Given the description of an element on the screen output the (x, y) to click on. 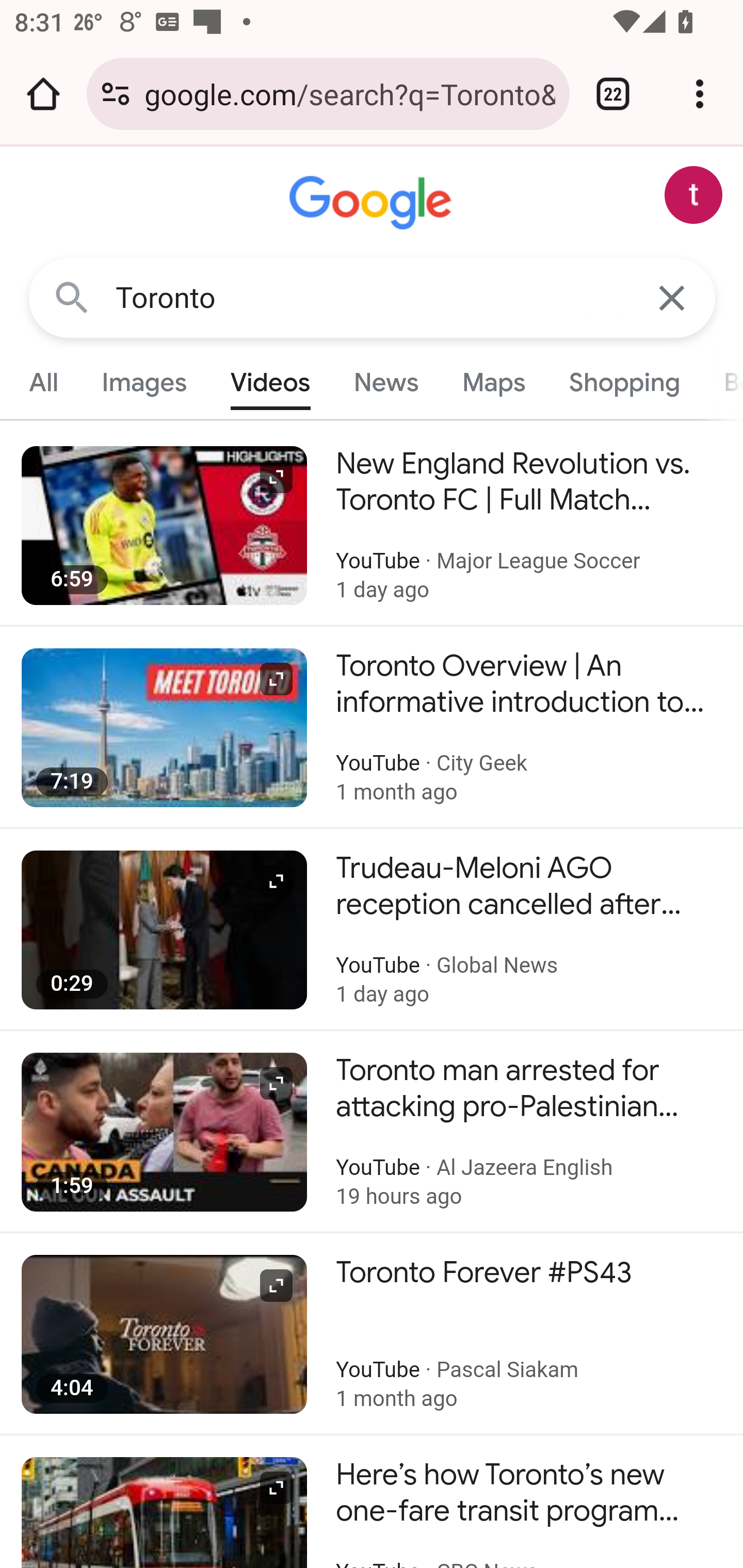
Open the home page (43, 93)
Connection is secure (115, 93)
Switch or close tabs (612, 93)
Customize and control Google Chrome (699, 93)
Google (372, 203)
Google Search (71, 296)
Clear Search (672, 296)
Toronto (372, 297)
All (43, 382)
Images (144, 382)
News (385, 382)
Maps (493, 382)
Shopping (623, 382)
